Given the description of an element on the screen output the (x, y) to click on. 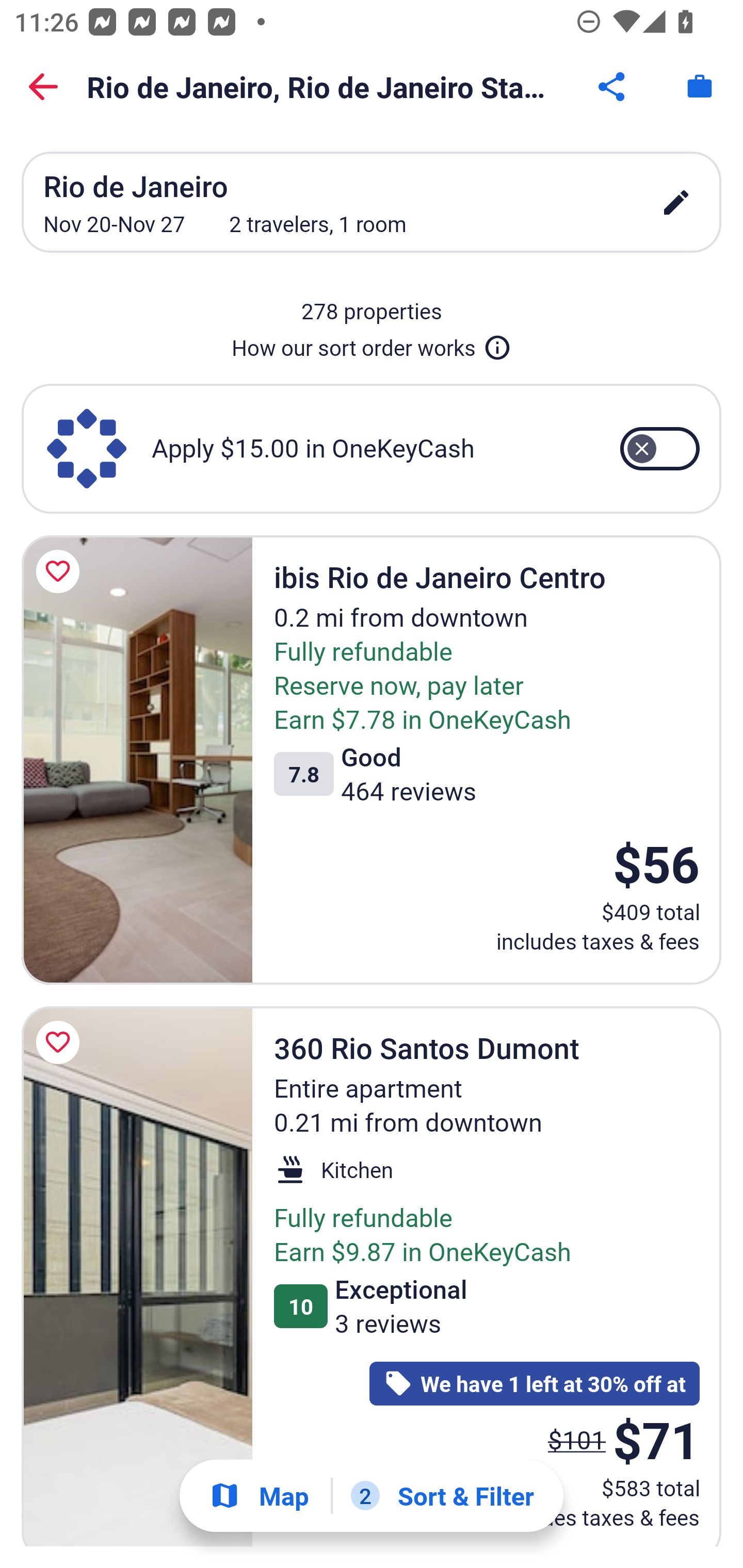
Back (43, 86)
Share Button (612, 86)
Trips. Button (699, 86)
How our sort order works (371, 344)
Save ibis Rio de Janeiro Centro to a trip (61, 571)
ibis Rio de Janeiro Centro (136, 759)
Save 360 Rio Santos Dumont to a trip (61, 1041)
360 Rio Santos Dumont (136, 1276)
$101 The price was $101 (576, 1439)
2 Sort & Filter 2 Filters applied. Filters Button (442, 1495)
Show map Map Show map Button (258, 1495)
